Given the description of an element on the screen output the (x, y) to click on. 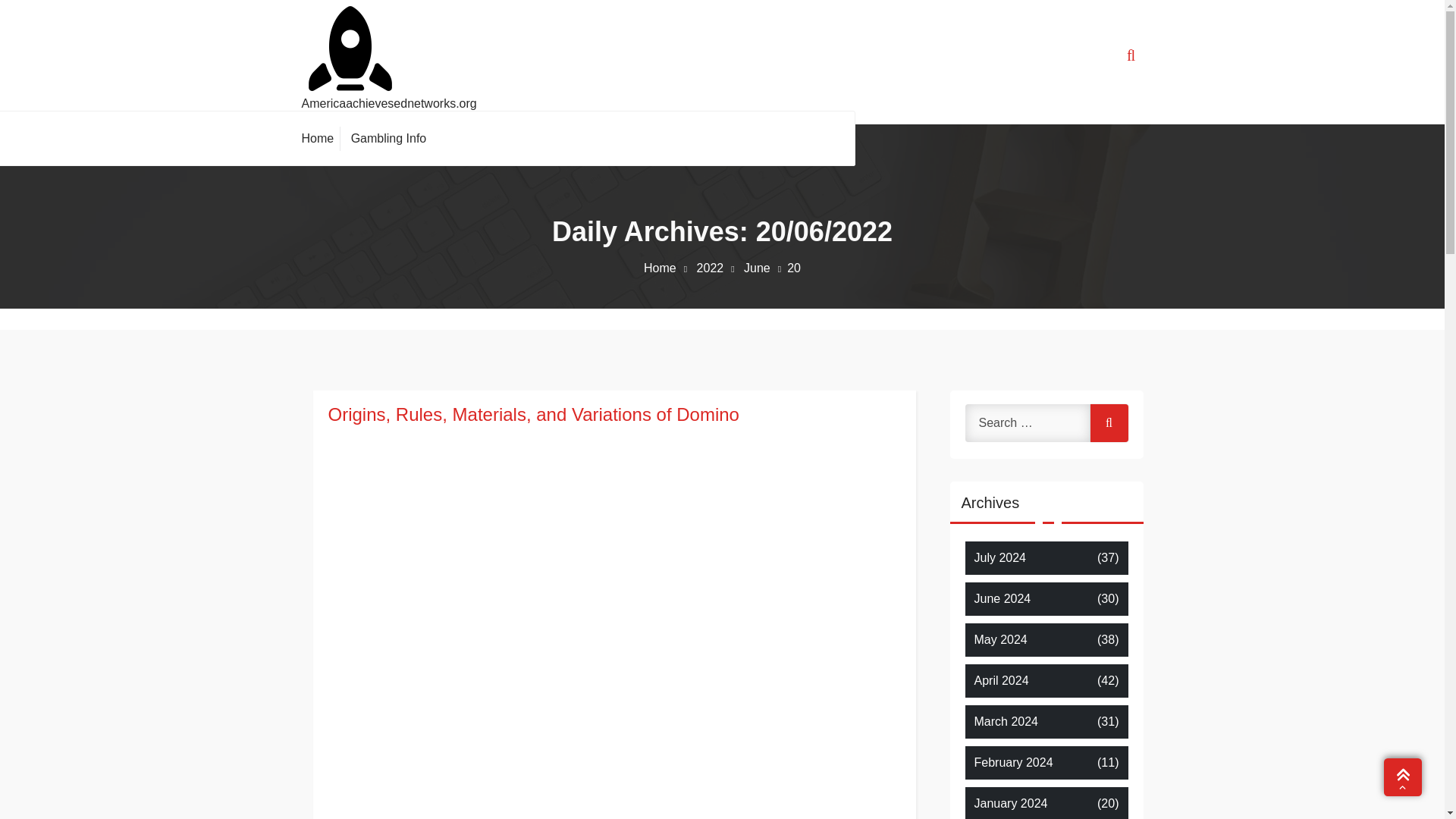
April 2024 (1000, 680)
June 2024 (1002, 598)
May 2024 (1000, 639)
July 2024 (1000, 557)
Home (320, 138)
June (765, 267)
Home (320, 138)
Gambling Info (388, 138)
February 2024 (1013, 762)
Home (668, 267)
January 2024 (1010, 803)
Gambling Info (388, 138)
March 2024 (1006, 721)
Origins, Rules, Materials, and Variations of Domino (613, 414)
2022 (719, 267)
